Given the description of an element on the screen output the (x, y) to click on. 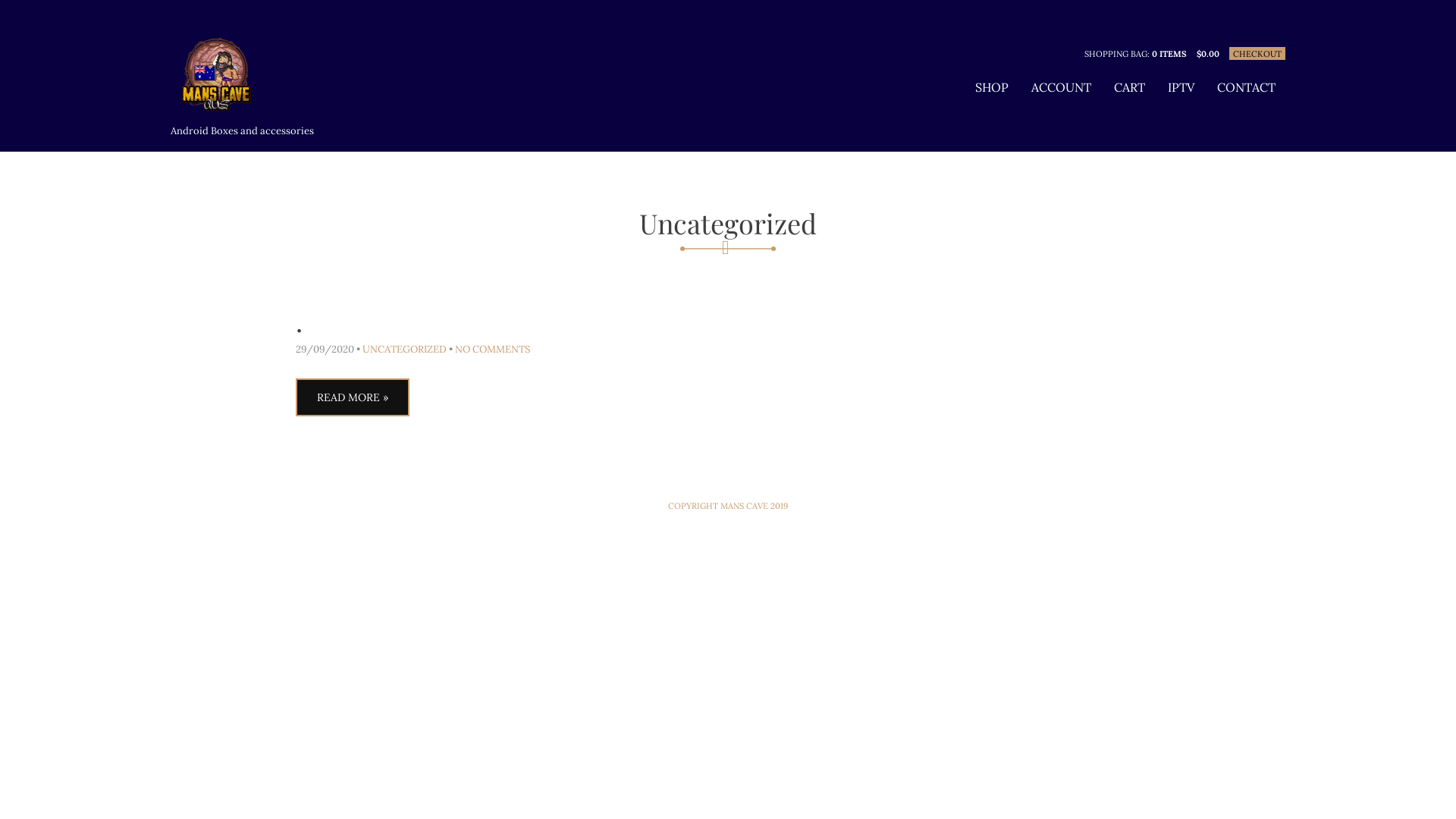
. Element type: text (298, 320)
ACCOUNT Element type: text (1061, 87)
IPTV Element type: text (1180, 87)
COPYRIGHT MANS CAVE 2019 Element type: text (727, 505)
CHECKOUT Element type: text (1257, 53)
SHOP Element type: text (991, 87)
NO COMMENTS Element type: text (492, 348)
0 ITEMS Element type: text (1168, 53)
CONTACT Element type: text (1246, 87)
UNCATEGORIZED Element type: text (404, 348)
CART Element type: text (1129, 87)
